Given the description of an element on the screen output the (x, y) to click on. 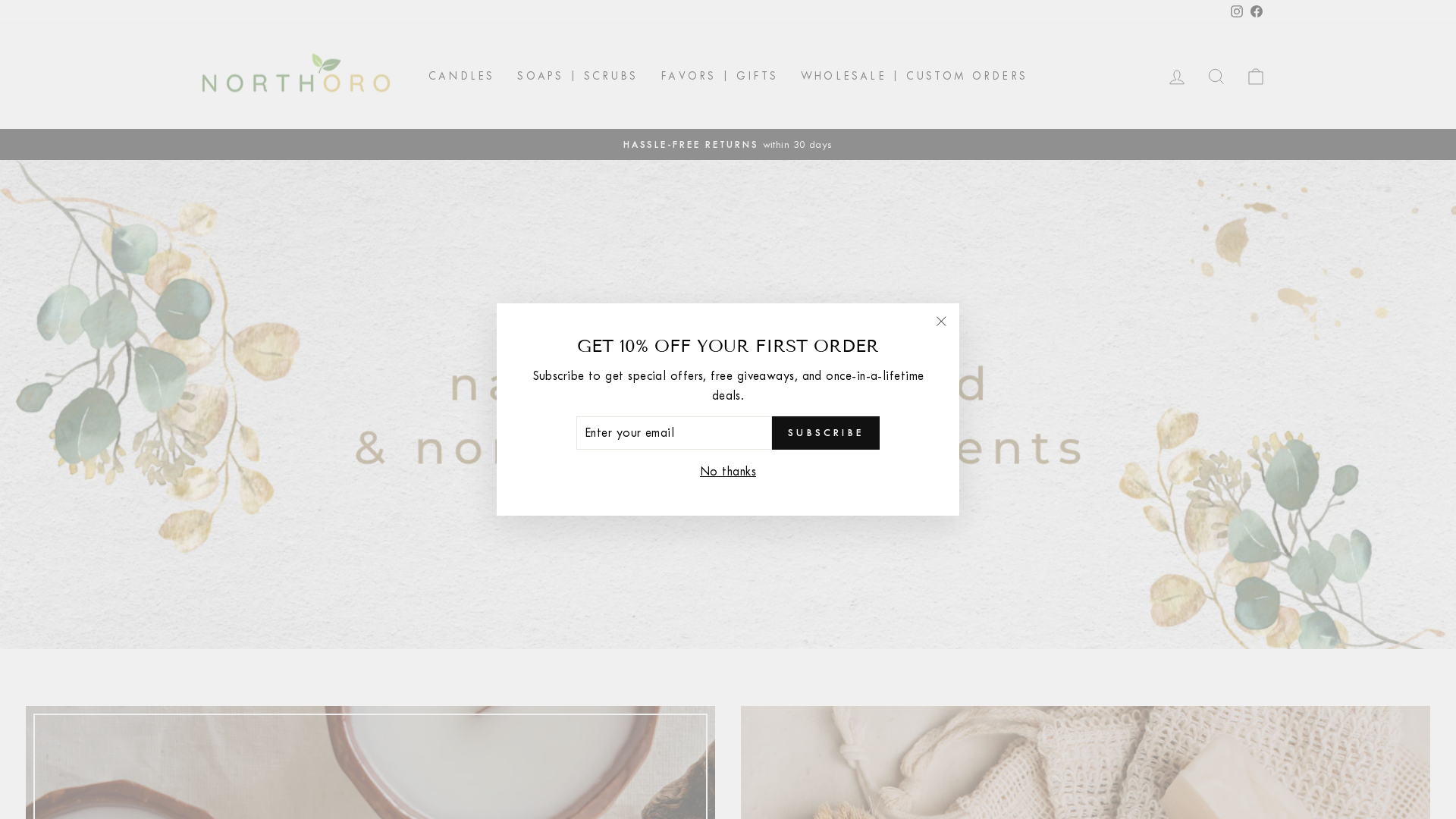
CANDLES Element type: text (461, 76)
Instagram Element type: text (1236, 11)
LOG IN Element type: text (1176, 75)
CART Element type: text (1255, 75)
Facebook Element type: text (1256, 11)
"Close (esc)" Element type: text (940, 321)
SOAPS | SCRUBS Element type: text (577, 76)
FAVORS | GIFTS Element type: text (719, 76)
WHOLESALE | CUSTOM ORDERS Element type: text (913, 76)
SEARCH Element type: text (1216, 75)
No thanks Element type: text (727, 471)
Skip to content Element type: text (0, 0)
SUBSCRIBE Element type: text (825, 432)
